Given the description of an element on the screen output the (x, y) to click on. 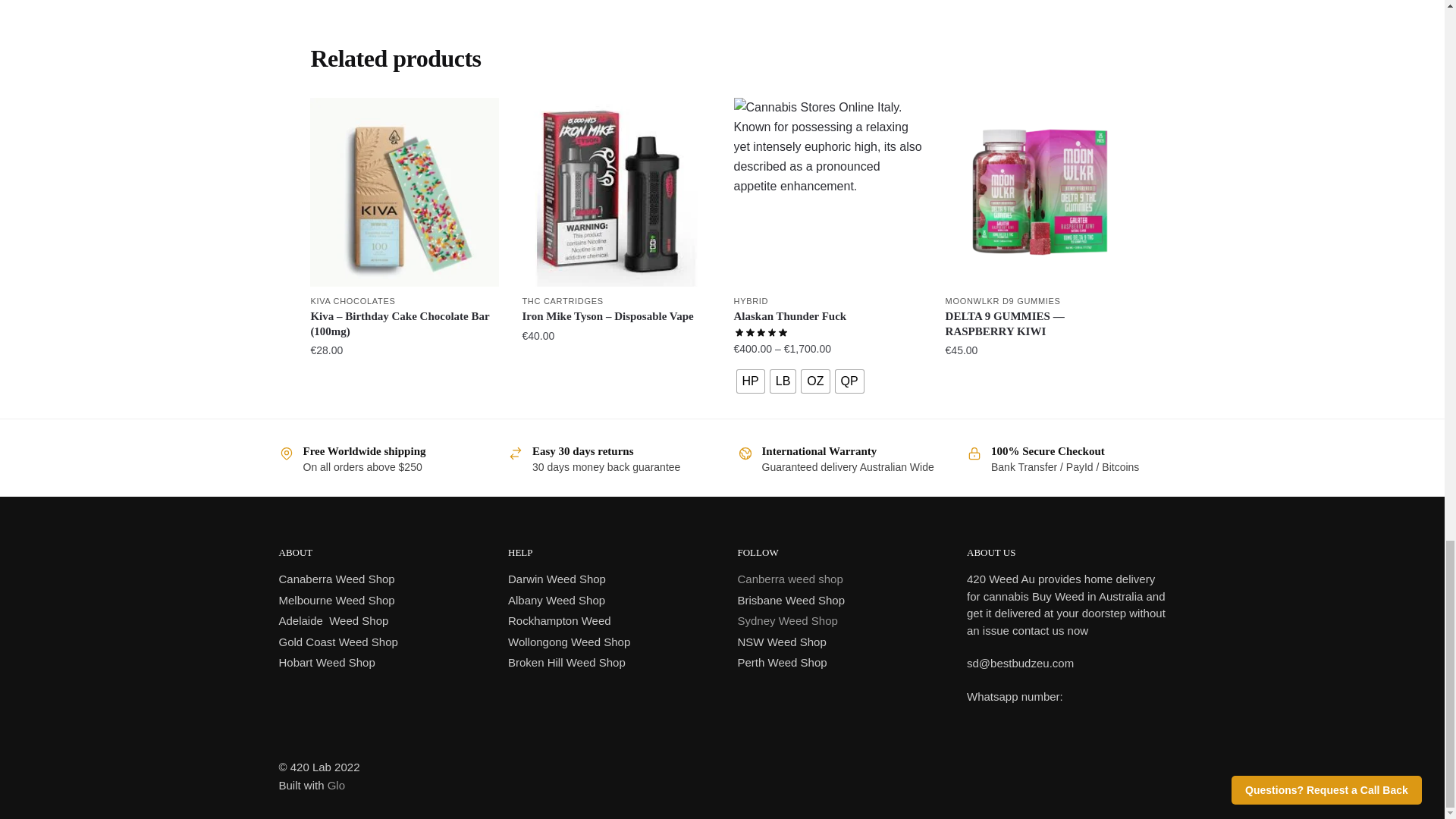
HP (750, 381)
LB (783, 381)
OZ (815, 381)
QP (849, 381)
